Given the description of an element on the screen output the (x, y) to click on. 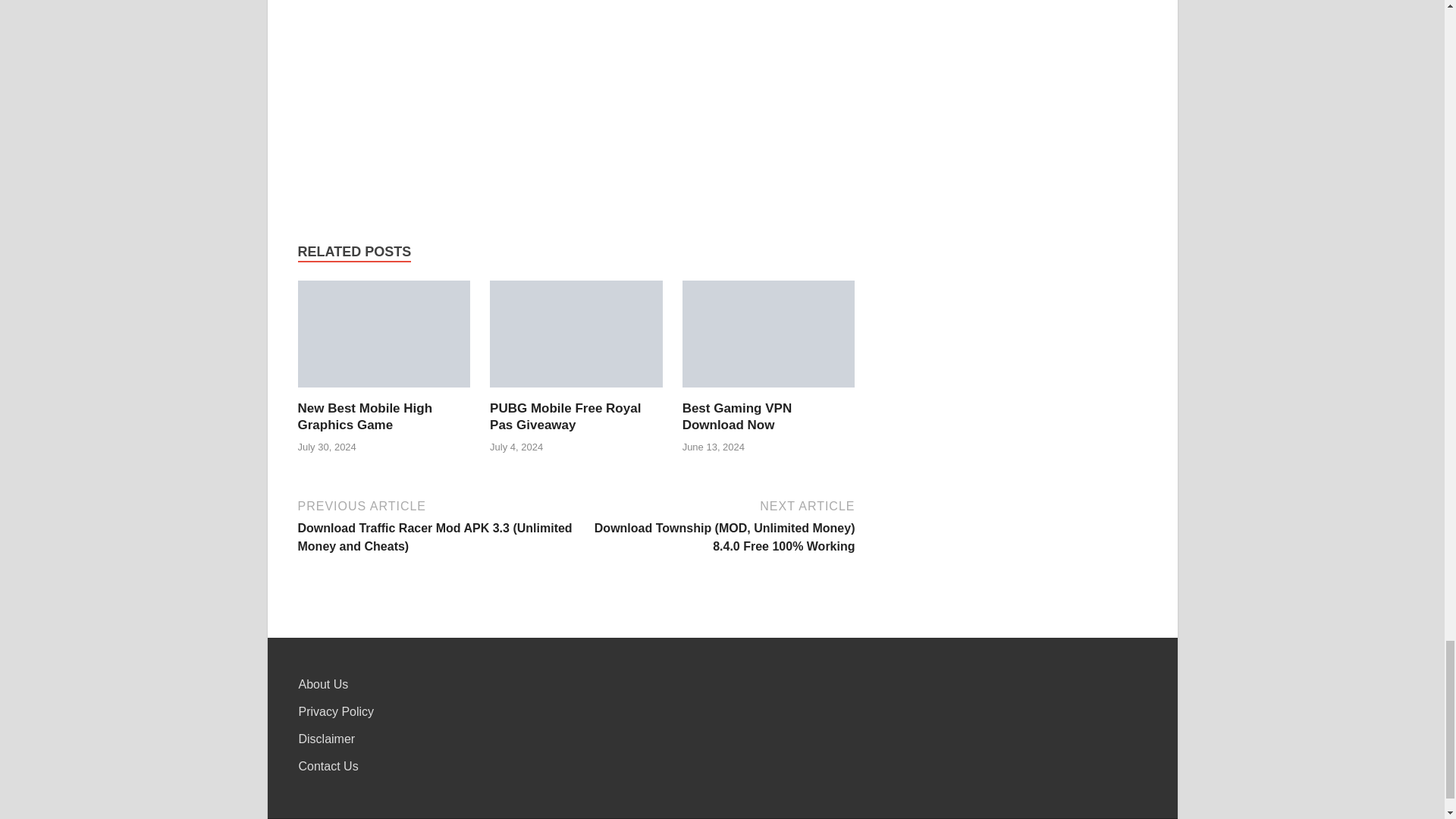
New Best Mobile High Graphics Game (383, 338)
PUBG Mobile Free Royal Pas Giveaway (575, 333)
PUBG Mobile Free Royal Pas Giveaway (564, 416)
PUBG Mobile Free Royal Pas Giveaway (564, 416)
Best Gaming VPN Download Now (769, 338)
Best Gaming VPN Download Now (769, 333)
Best Gaming VPN Download Now (737, 416)
New Best Mobile High Graphics Game (364, 416)
Best Gaming VPN Download Now (737, 416)
New Best Mobile High Graphics Game (383, 333)
New Best Mobile High Graphics Game (364, 416)
PUBG Mobile Free Royal Pas Giveaway (575, 338)
